Given the description of an element on the screen output the (x, y) to click on. 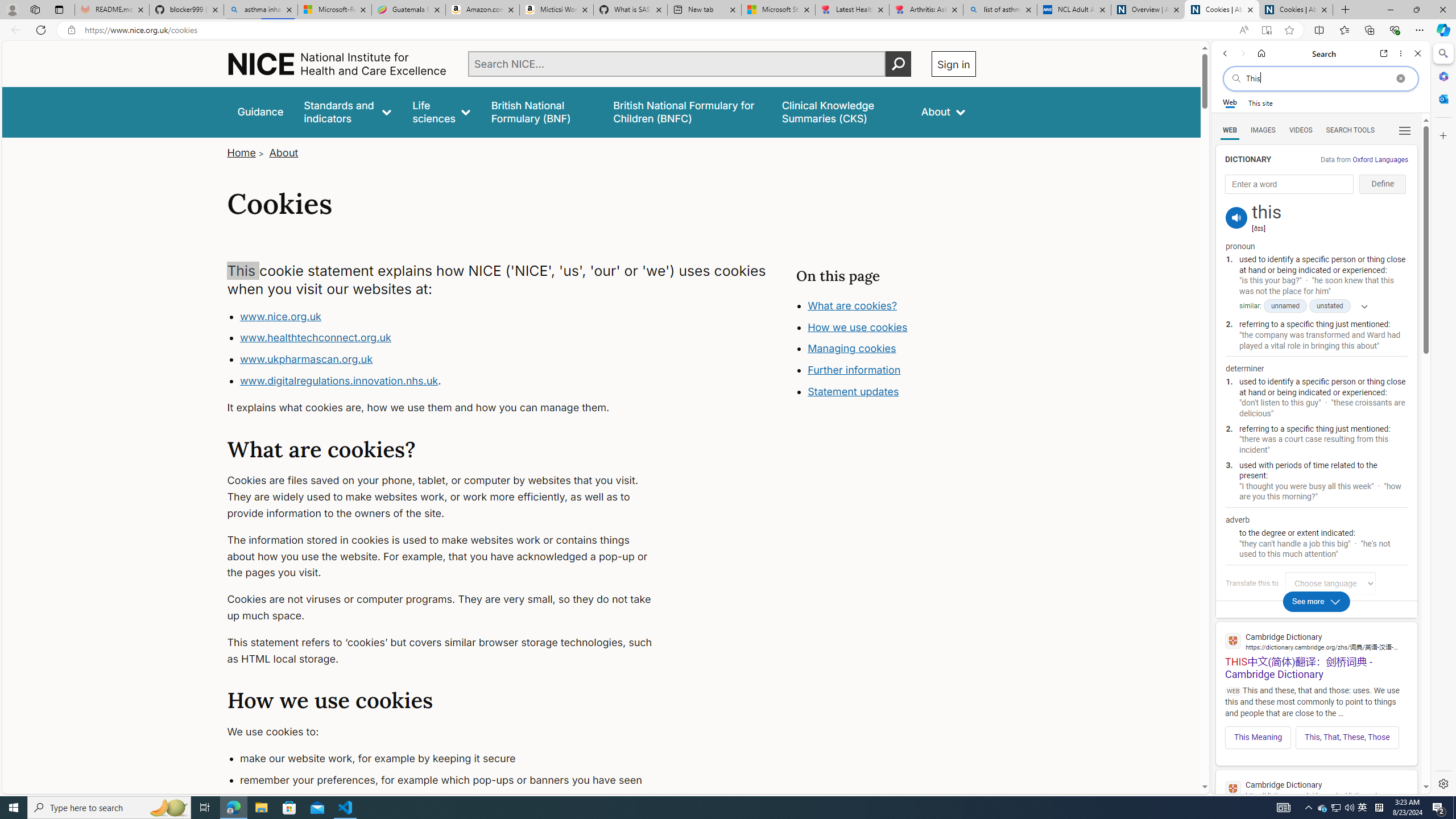
pronounce (1236, 217)
This Meaning (1258, 737)
Clear (1400, 78)
Guidance (260, 111)
